Given the description of an element on the screen output the (x, y) to click on. 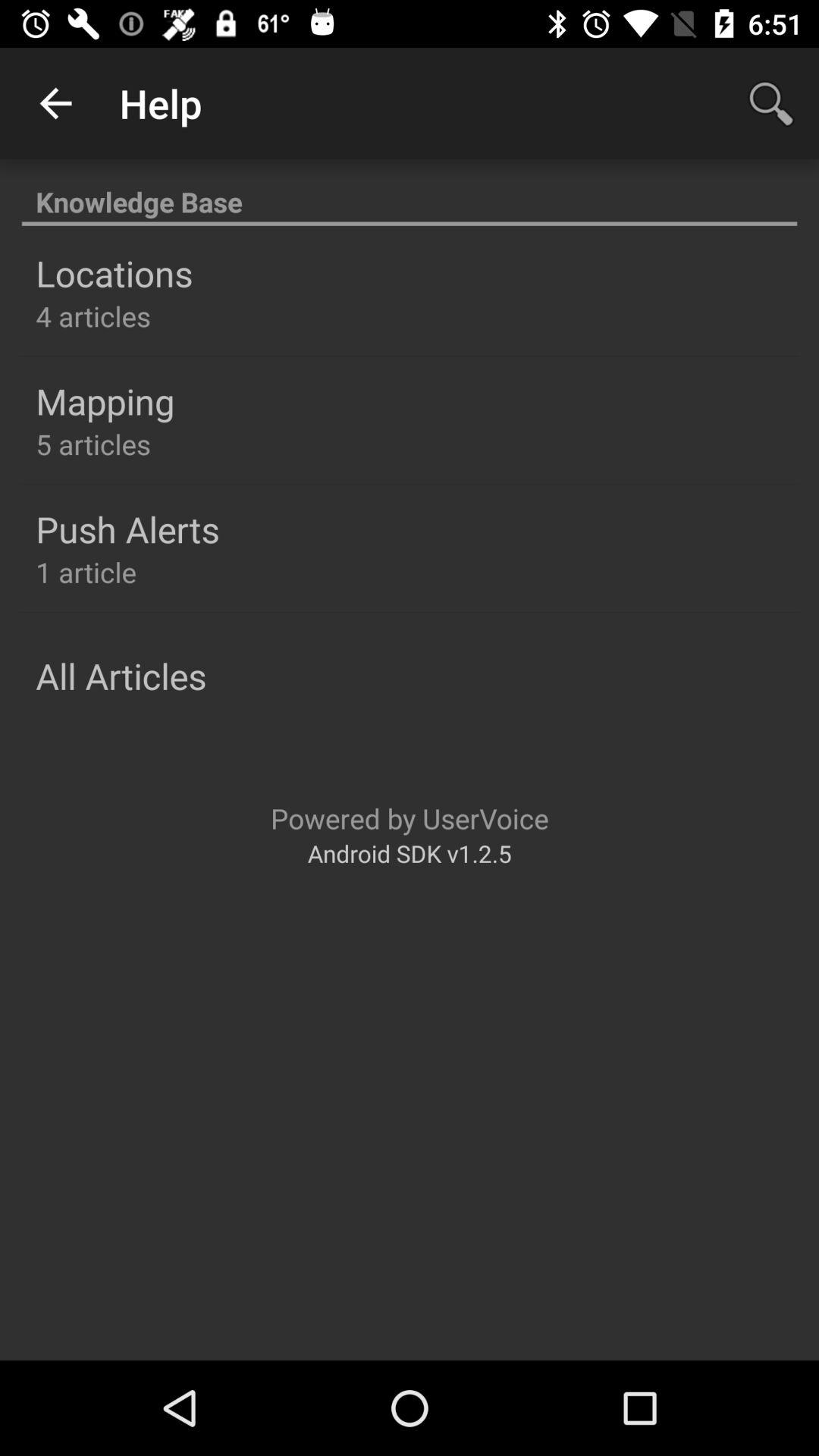
choose the icon at the top right corner (771, 103)
